Given the description of an element on the screen output the (x, y) to click on. 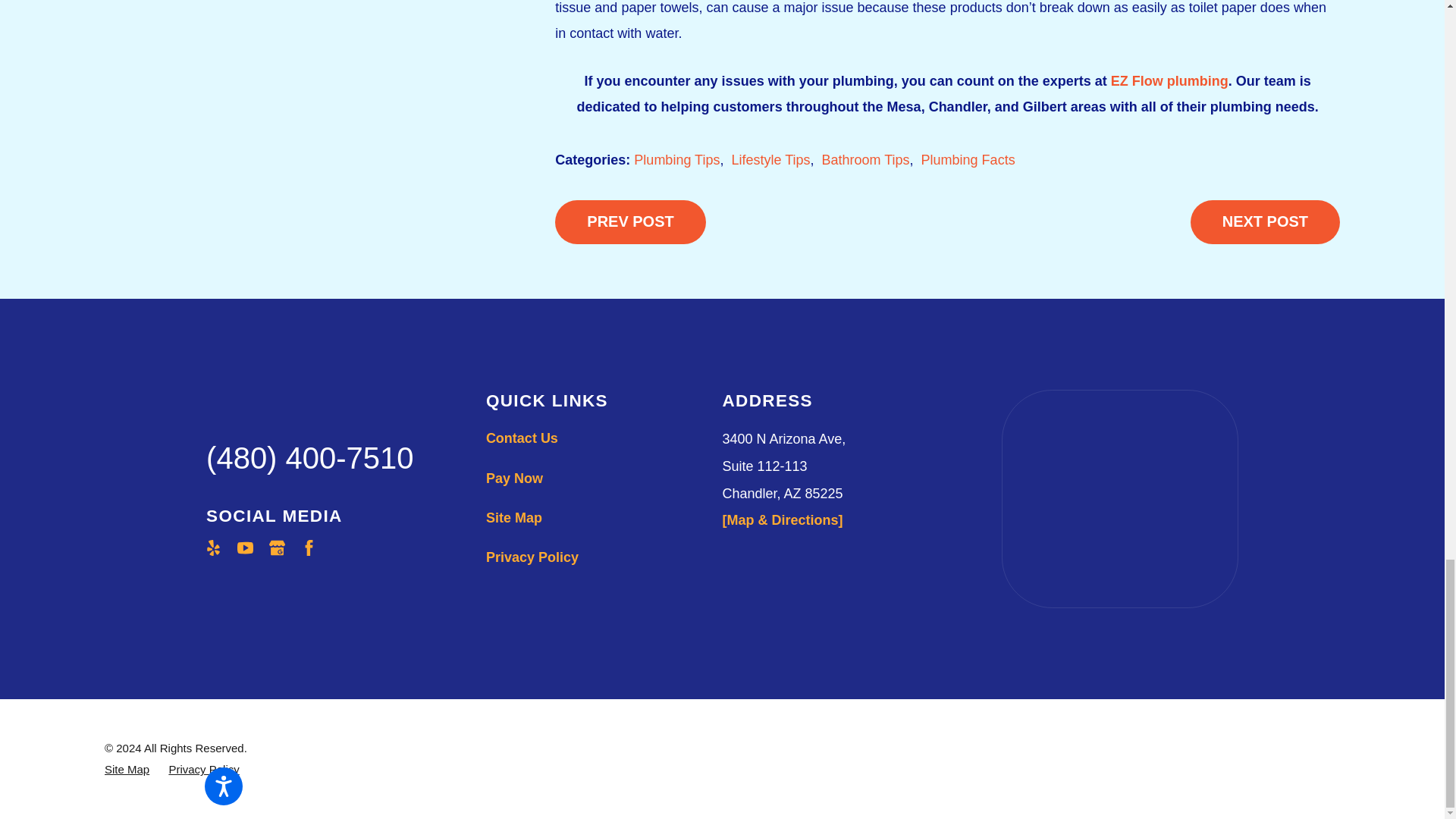
Google Business Profile (277, 547)
YouTube (245, 547)
Facebook (309, 547)
Yelp (213, 547)
